Given the description of an element on the screen output the (x, y) to click on. 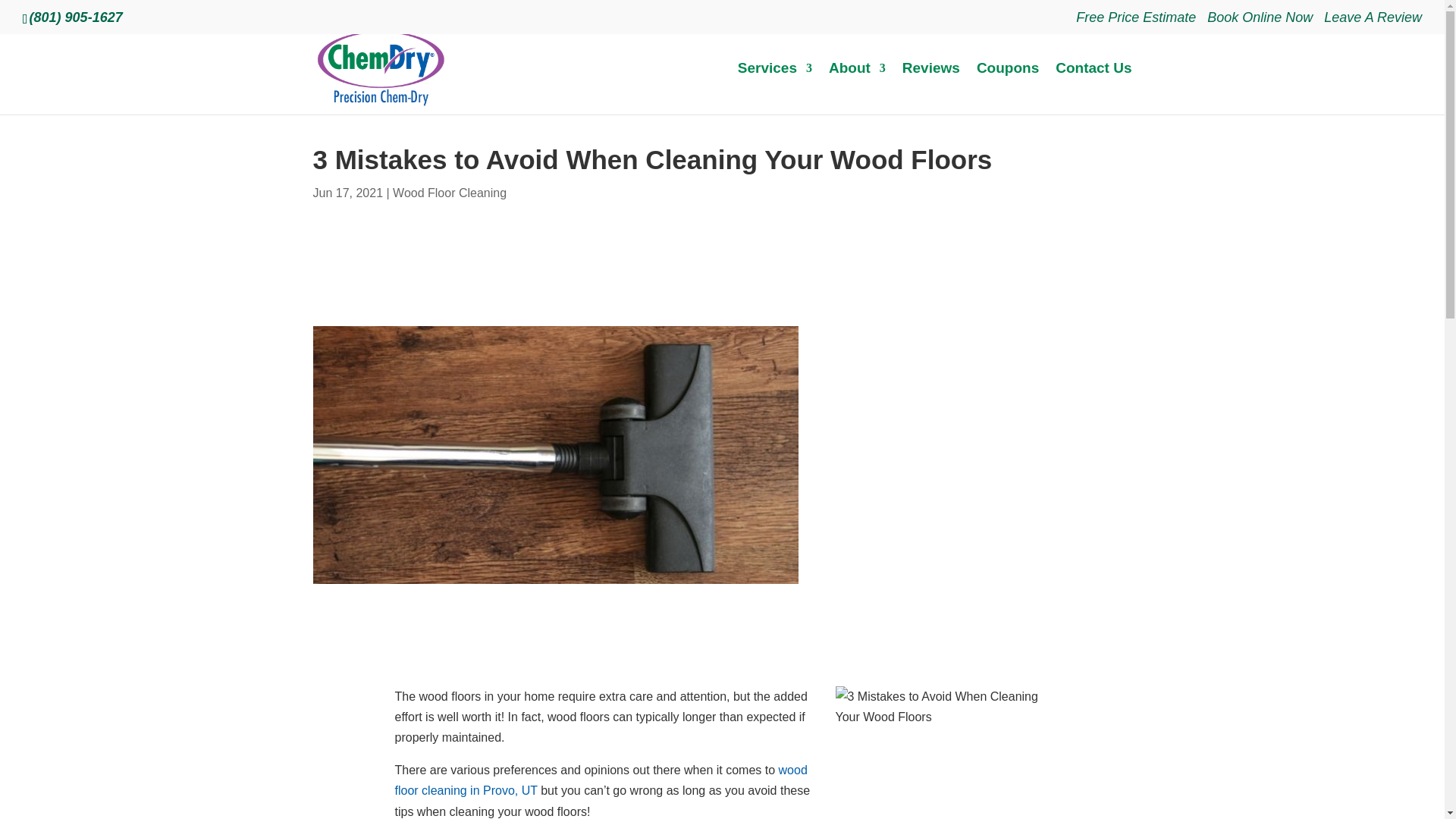
About (856, 86)
Wood Floor Cleaning (449, 192)
Book Online Now (1260, 22)
Services (775, 86)
Free Price Estimate (1135, 22)
wood floor cleaning in Provo, UT (600, 779)
Leave A Review (1372, 22)
Reviews (930, 86)
Coupons (1007, 86)
Contact Us (1093, 86)
